Given the description of an element on the screen output the (x, y) to click on. 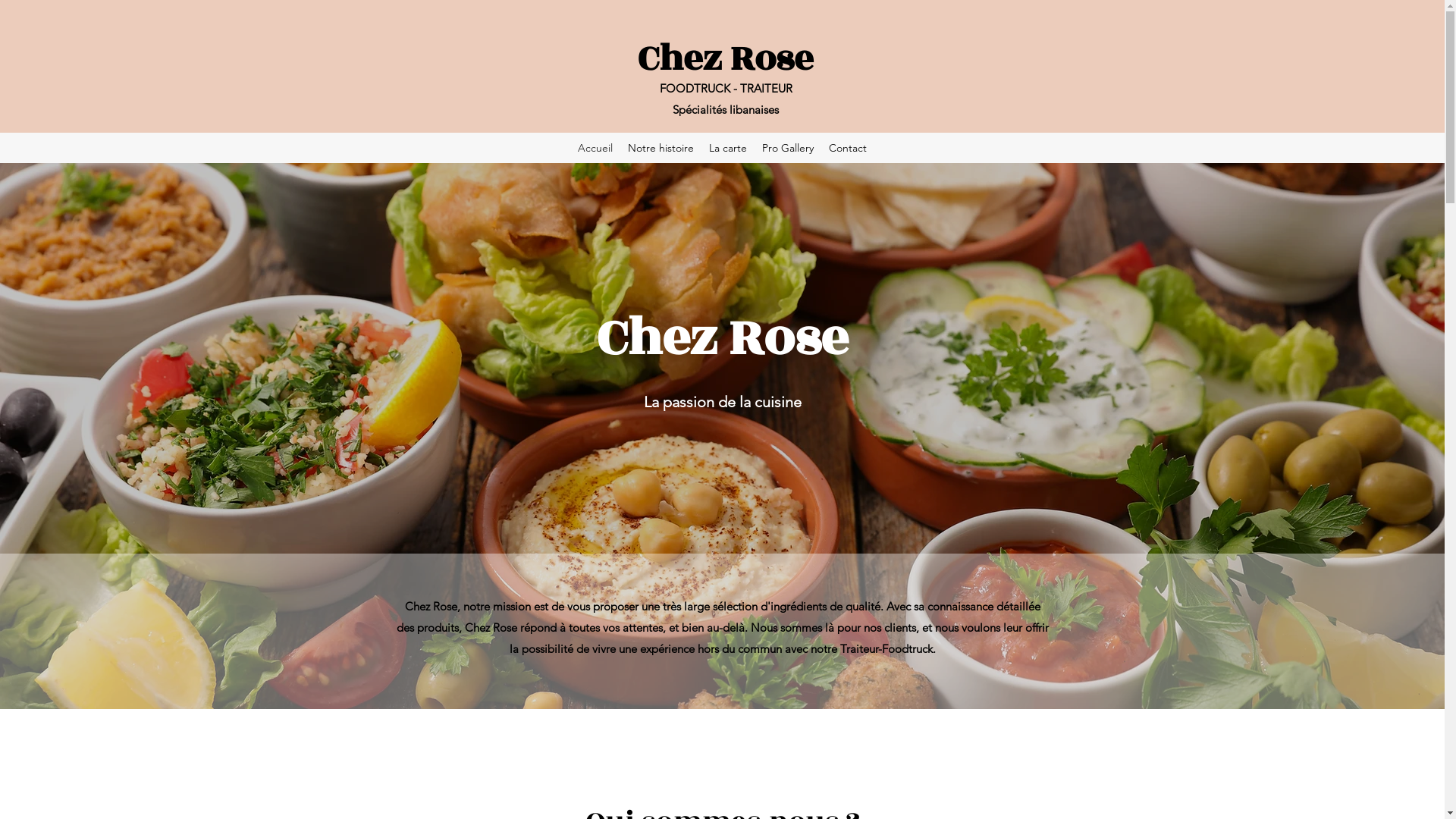
Pro Gallery Element type: text (787, 147)
Notre histoire Element type: text (660, 147)
Contact Element type: text (847, 147)
Chez Rose Element type: text (725, 58)
Accueil Element type: text (595, 147)
La carte Element type: text (727, 147)
